Given the description of an element on the screen output the (x, y) to click on. 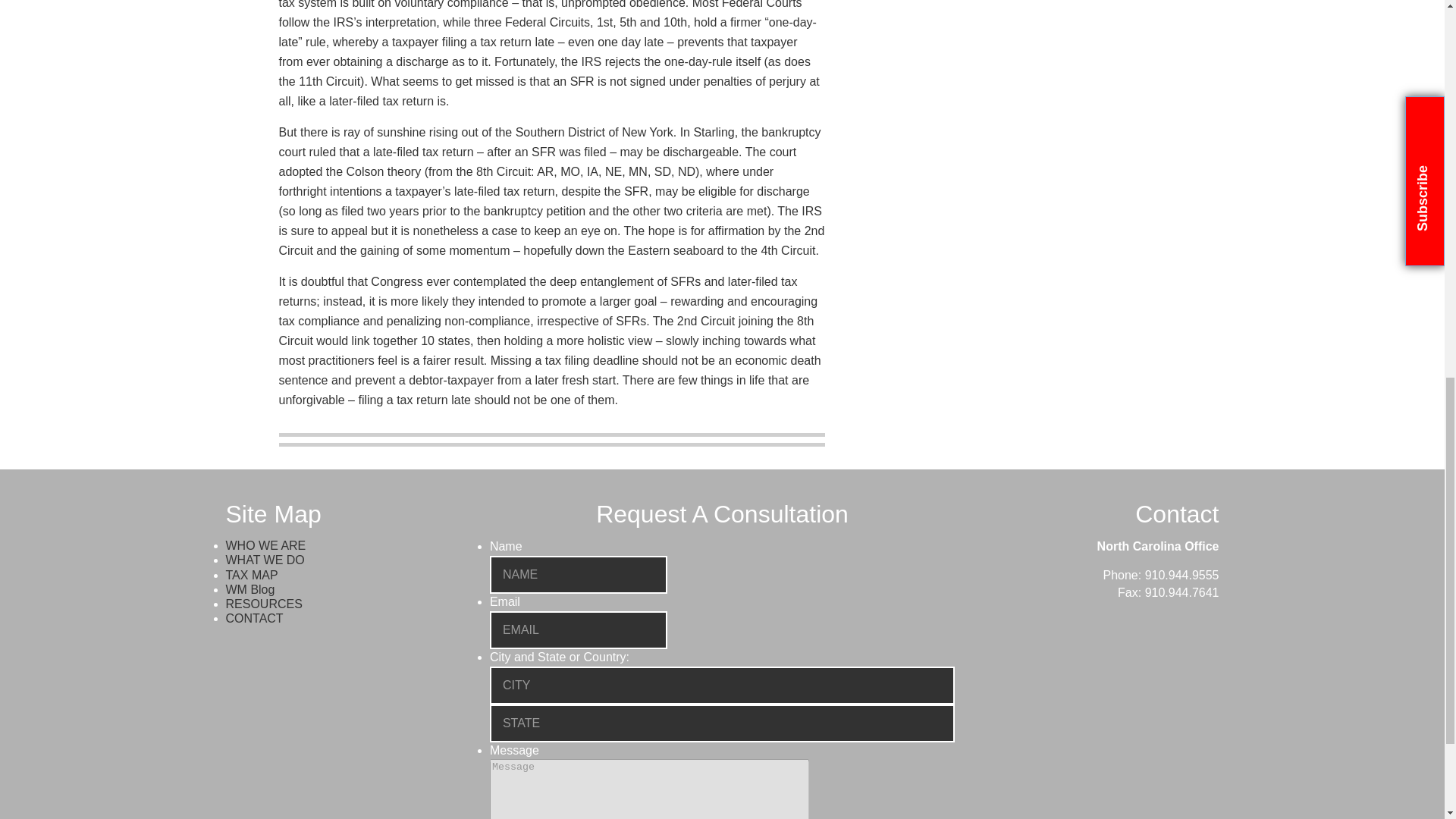
TAX MAP (251, 574)
RESOURCES (263, 603)
WM Blog (250, 589)
WHO WE ARE (265, 545)
CONTACT (254, 617)
WHAT WE DO (264, 559)
